Given the description of an element on the screen output the (x, y) to click on. 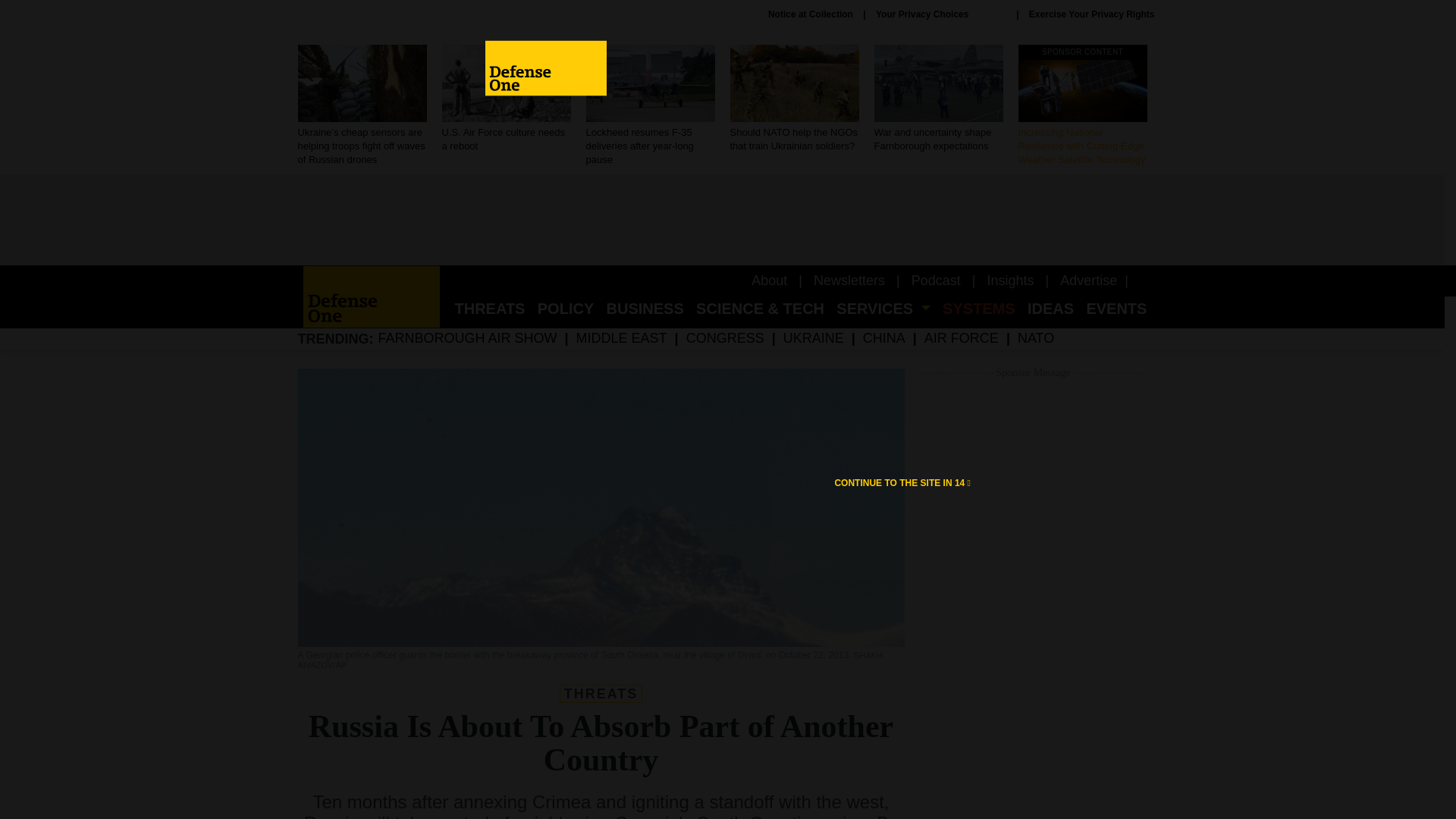
Lockheed resumes F-35 deliveries after year-long pause (649, 106)
Podcast (935, 280)
Should NATO help the NGOs that train Ukrainian soldiers? (794, 99)
Your Privacy Choices (941, 14)
U.S. Air Force culture needs a reboot (505, 99)
War and uncertainty shape Farnborough expectations (938, 99)
3rd party ad content (721, 219)
Exercise Your Privacy Rights (1091, 14)
About (769, 280)
Notice at Collection (810, 14)
CONTINUE TO THE SITE IN 14 (902, 482)
Insights (1010, 280)
Advertise (1087, 280)
